Given the description of an element on the screen output the (x, y) to click on. 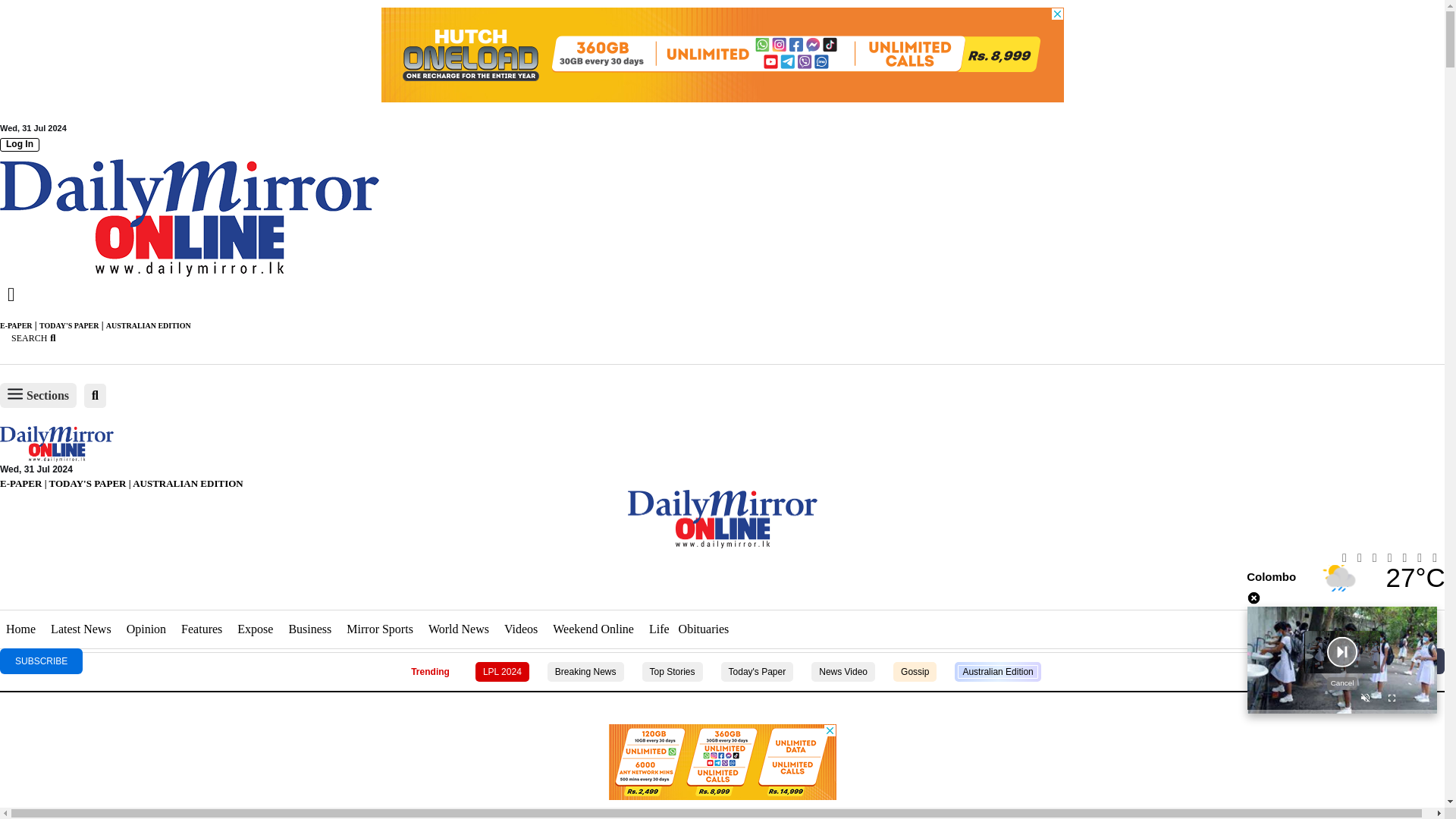
3rd party ad content (721, 54)
3rd party ad content (721, 810)
Unmute (1364, 700)
3rd party ad content (721, 747)
Play (1342, 659)
